Given the description of an element on the screen output the (x, y) to click on. 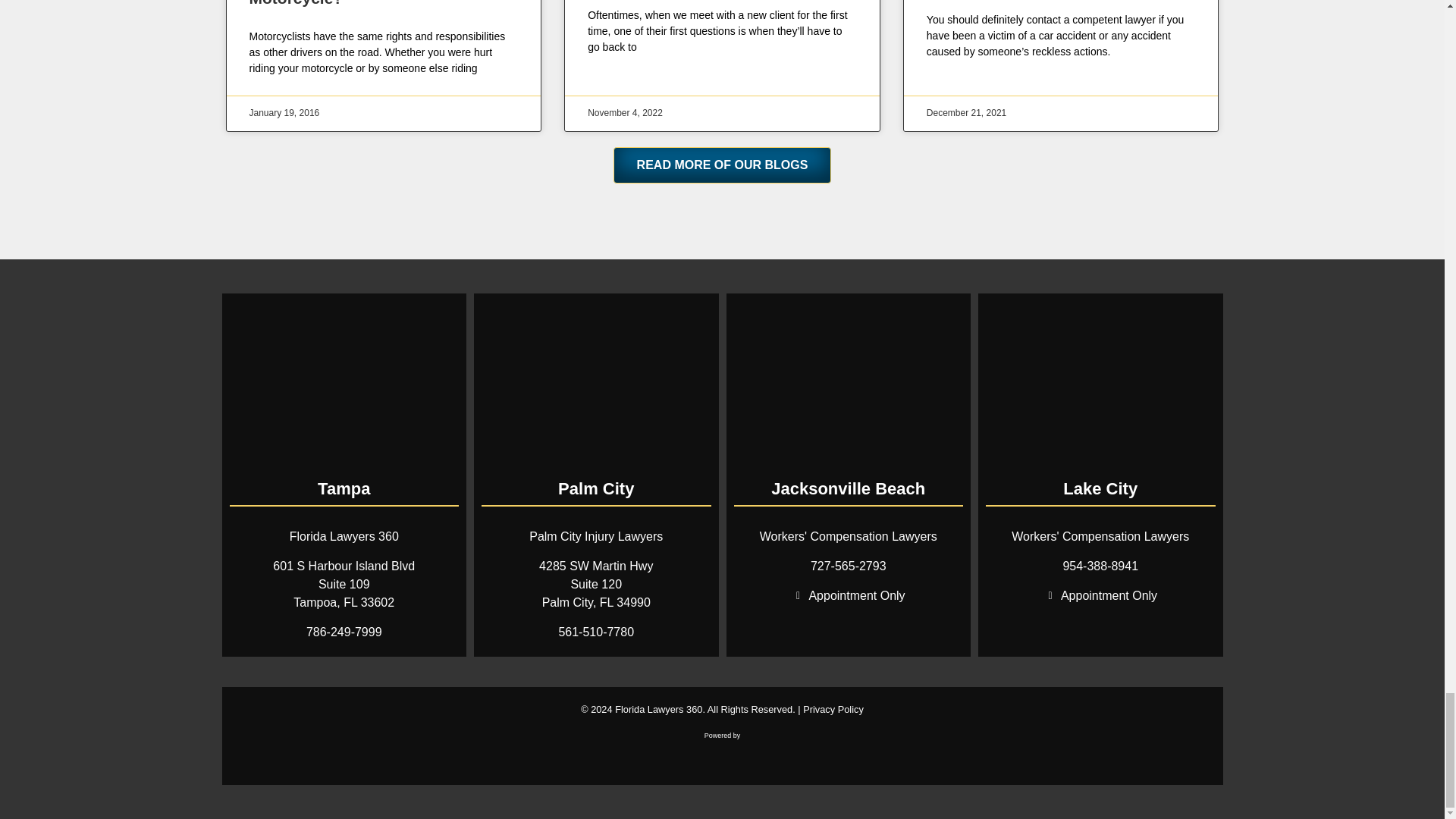
Palm City (596, 384)
Lake City (1100, 384)
Jacksonville Beach (848, 384)
Tampa (343, 384)
